Given the description of an element on the screen output the (x, y) to click on. 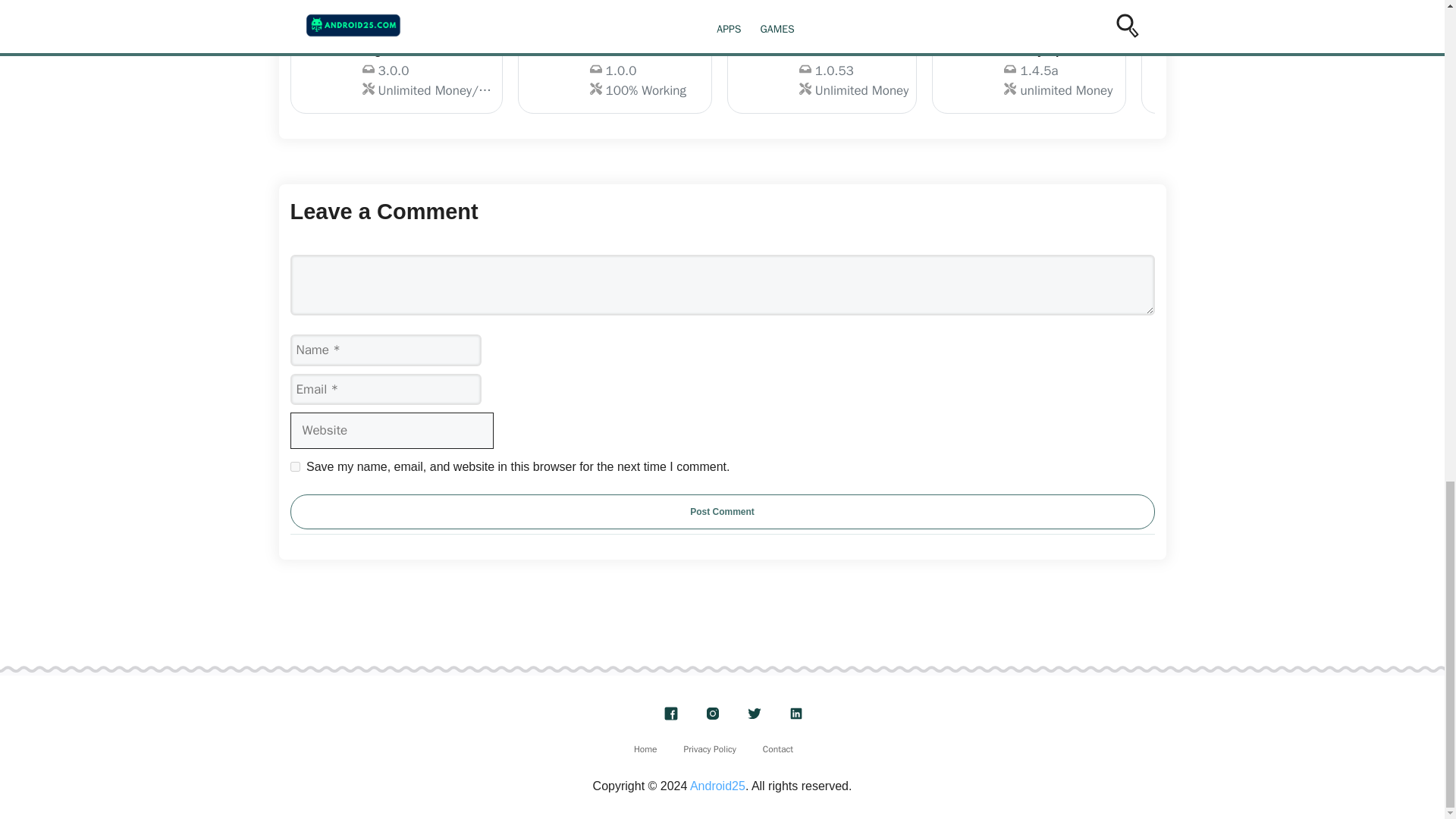
Android25 (717, 784)
Hero Clash (821, 73)
Little Nightmares (1247, 73)
Home (1028, 73)
Contact (645, 748)
Rainbow Six Mobile  (777, 748)
Privacy Policy (613, 73)
Post Comment (710, 748)
yes (721, 511)
Night Adventure  (294, 466)
Post Comment (821, 73)
Disney Speedstorm (395, 73)
